Given the description of an element on the screen output the (x, y) to click on. 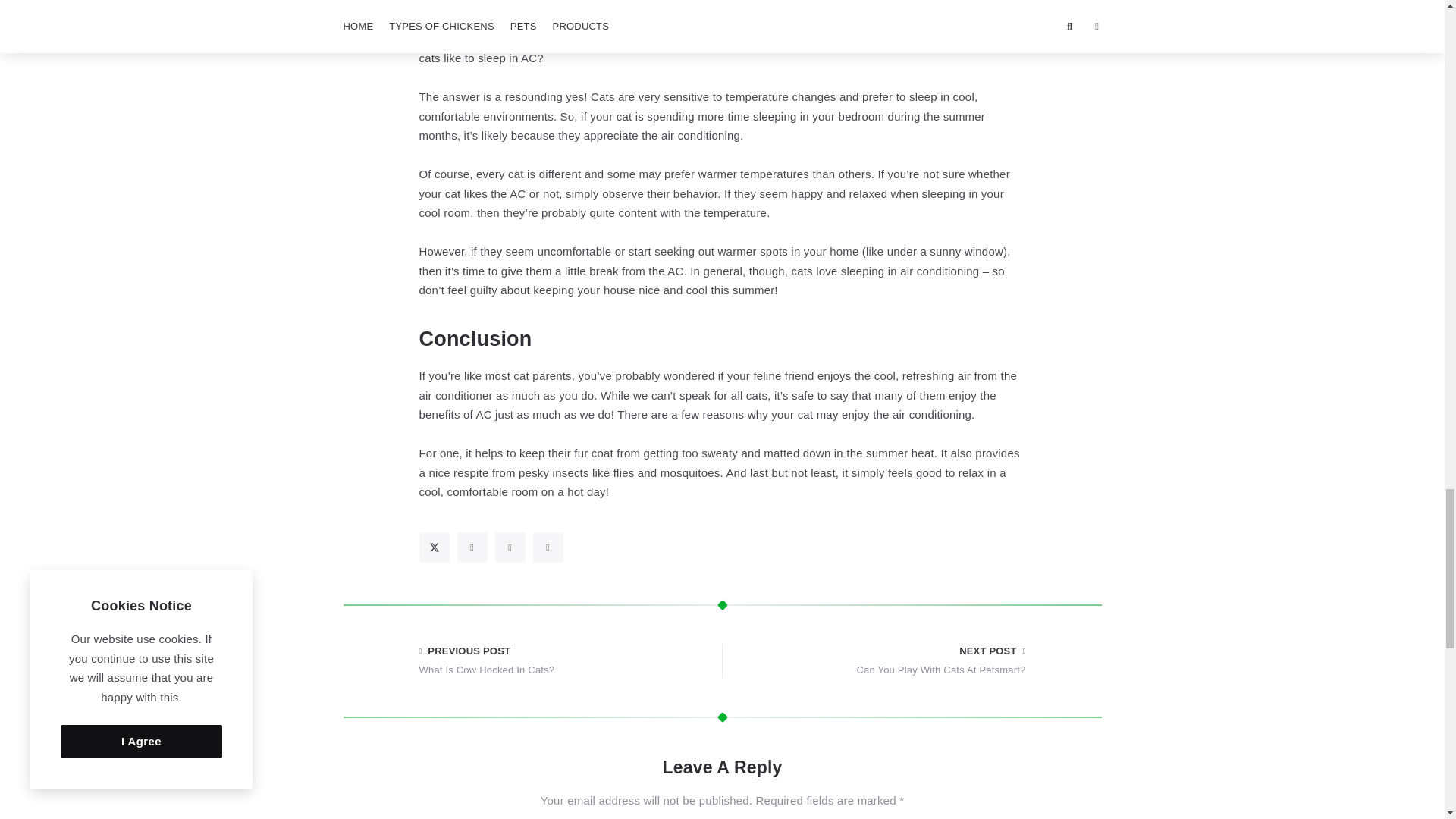
Share on Reddit (547, 547)
Share on Facebook (471, 547)
Share on Pinterest (509, 547)
Share on Twitter X (433, 547)
